Given the description of an element on the screen output the (x, y) to click on. 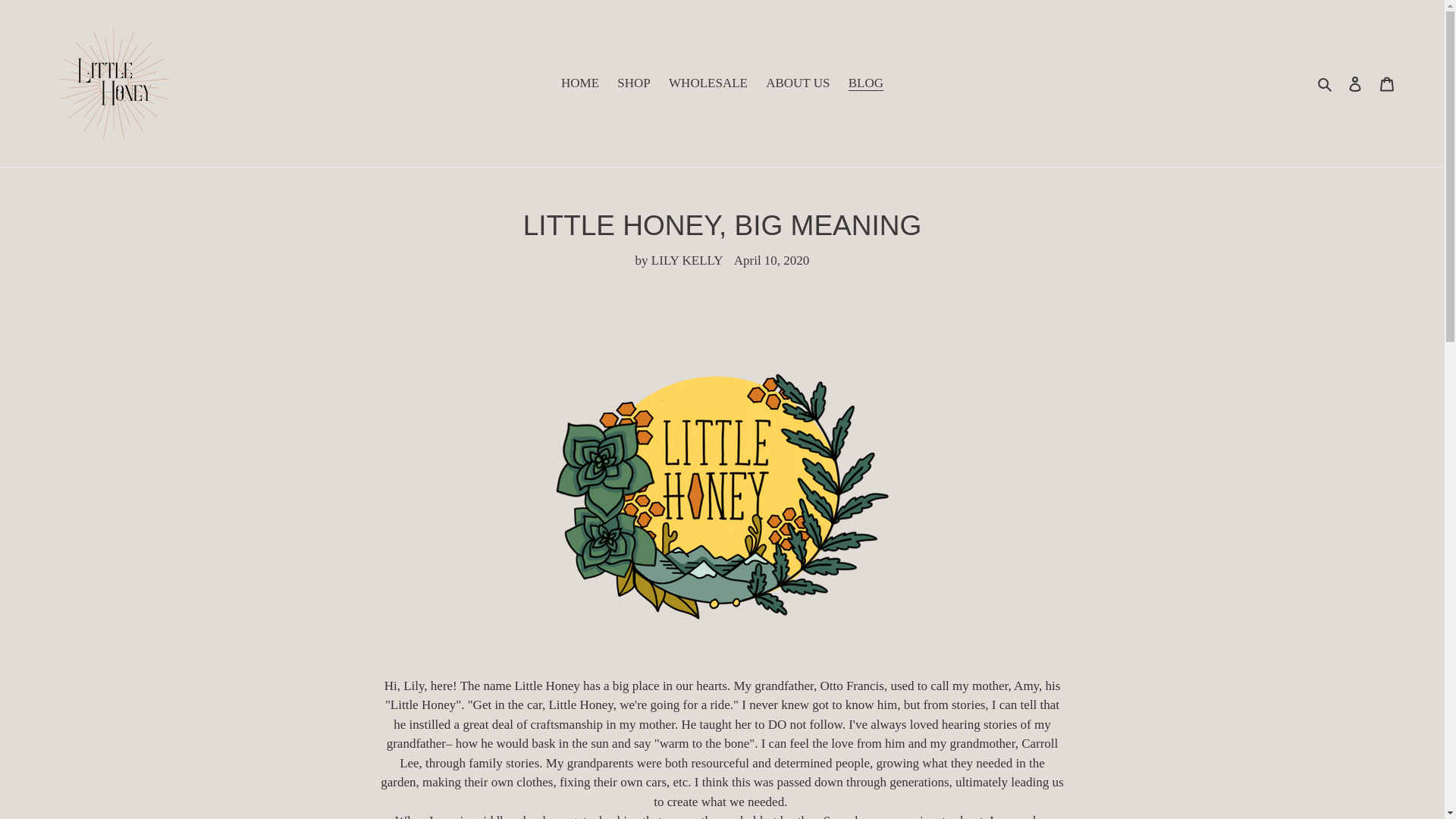
HOME (580, 83)
SHOP (634, 83)
WHOLESALE (708, 83)
BLOG (866, 83)
ABOUT US (797, 83)
Log in (1355, 83)
Cart (1387, 83)
Search (1326, 83)
